Given the description of an element on the screen output the (x, y) to click on. 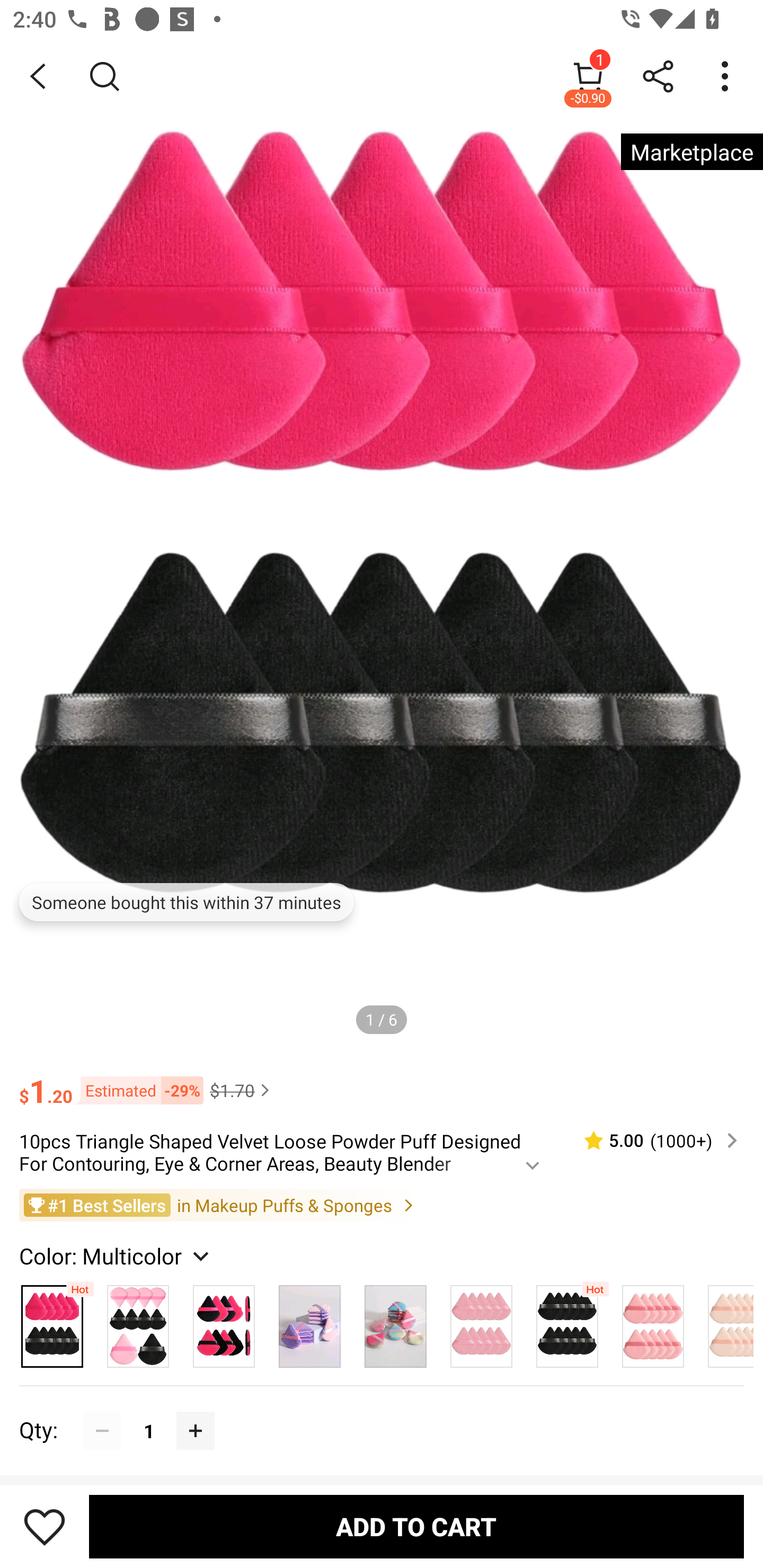
BACK (38, 75)
1 -$0.90 (588, 75)
1 / 6 (381, 1018)
$1.20 Estimated -29% $1.70 (381, 1082)
Estimated -29% (137, 1089)
$1.70 (241, 1090)
5.00 (1000‎+) (653, 1139)
#1 Best Sellers in Makeup Puffs & Sponges (381, 1204)
Color: Multicolor (116, 1255)
Multicolor (138, 1321)
Multicolor (224, 1321)
Multicolor (309, 1321)
Multicolor (395, 1321)
Multicolor (481, 1321)
Black (567, 1321)
Multicolor (652, 1321)
Multicolor (724, 1321)
Qty: 1 (381, 1411)
ADD TO CART (416, 1526)
Save (44, 1526)
